Given the description of an element on the screen output the (x, y) to click on. 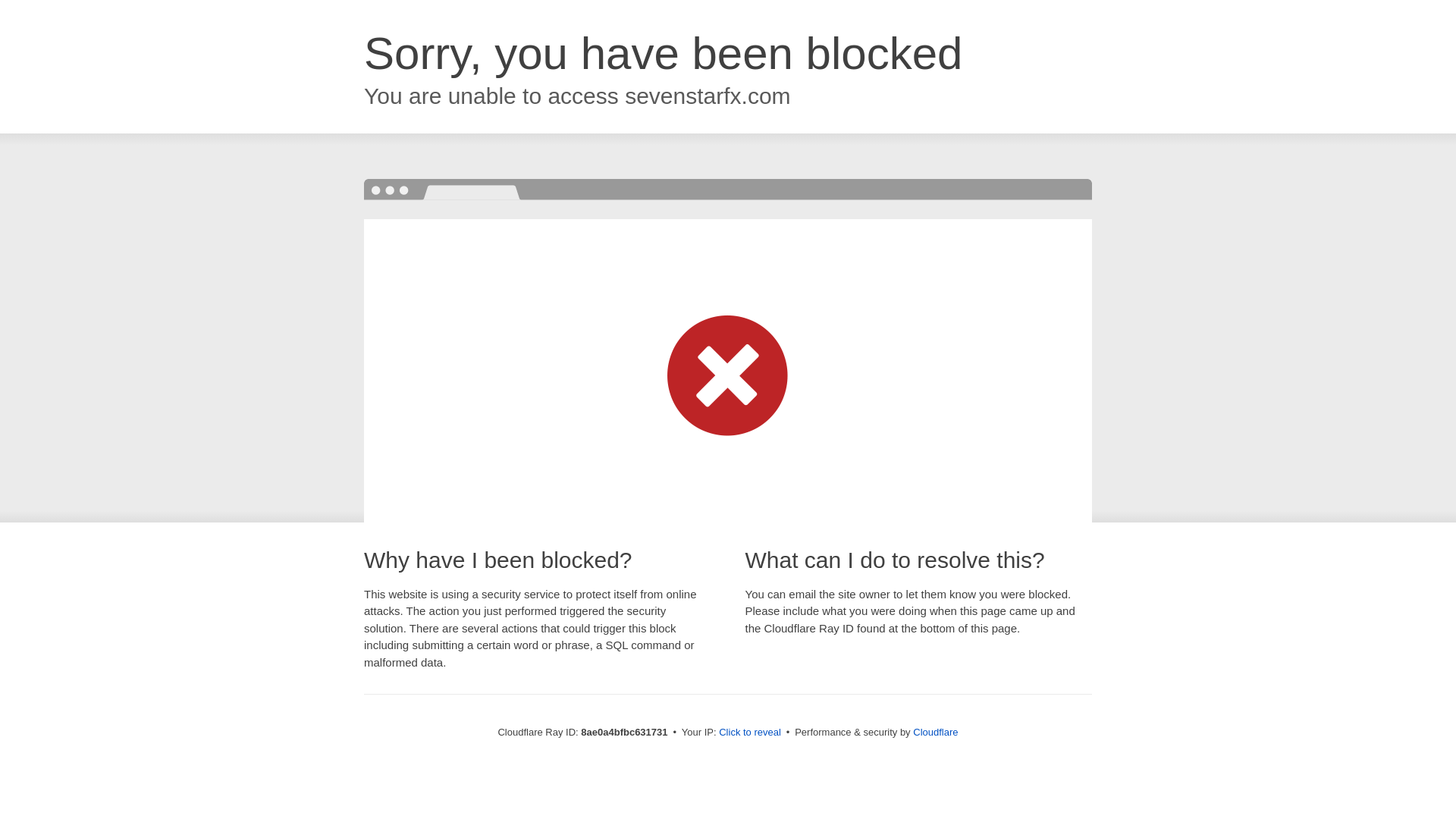
Cloudflare (935, 731)
Click to reveal (749, 732)
